Given the description of an element on the screen output the (x, y) to click on. 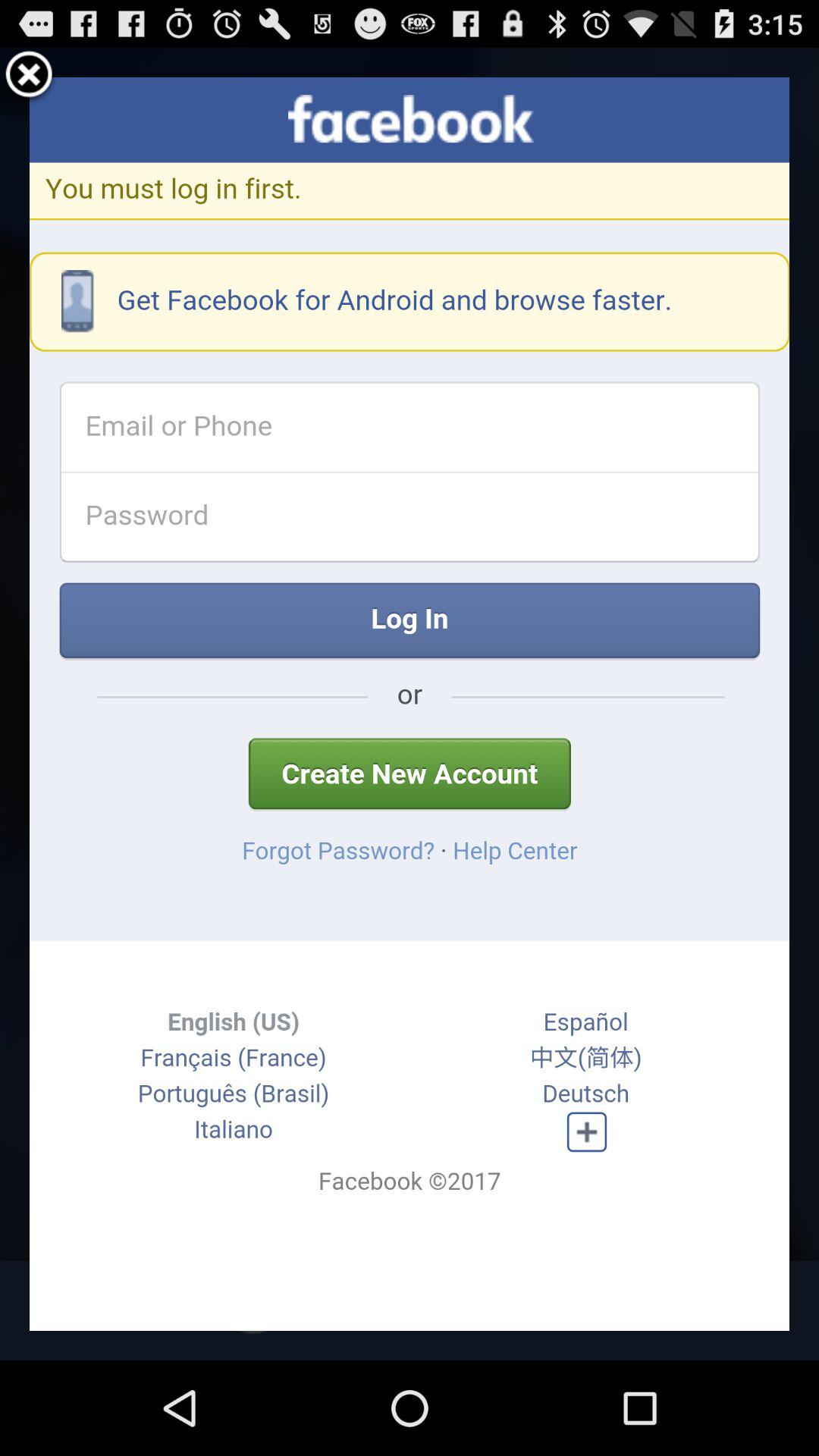
close (29, 76)
